Given the description of an element on the screen output the (x, y) to click on. 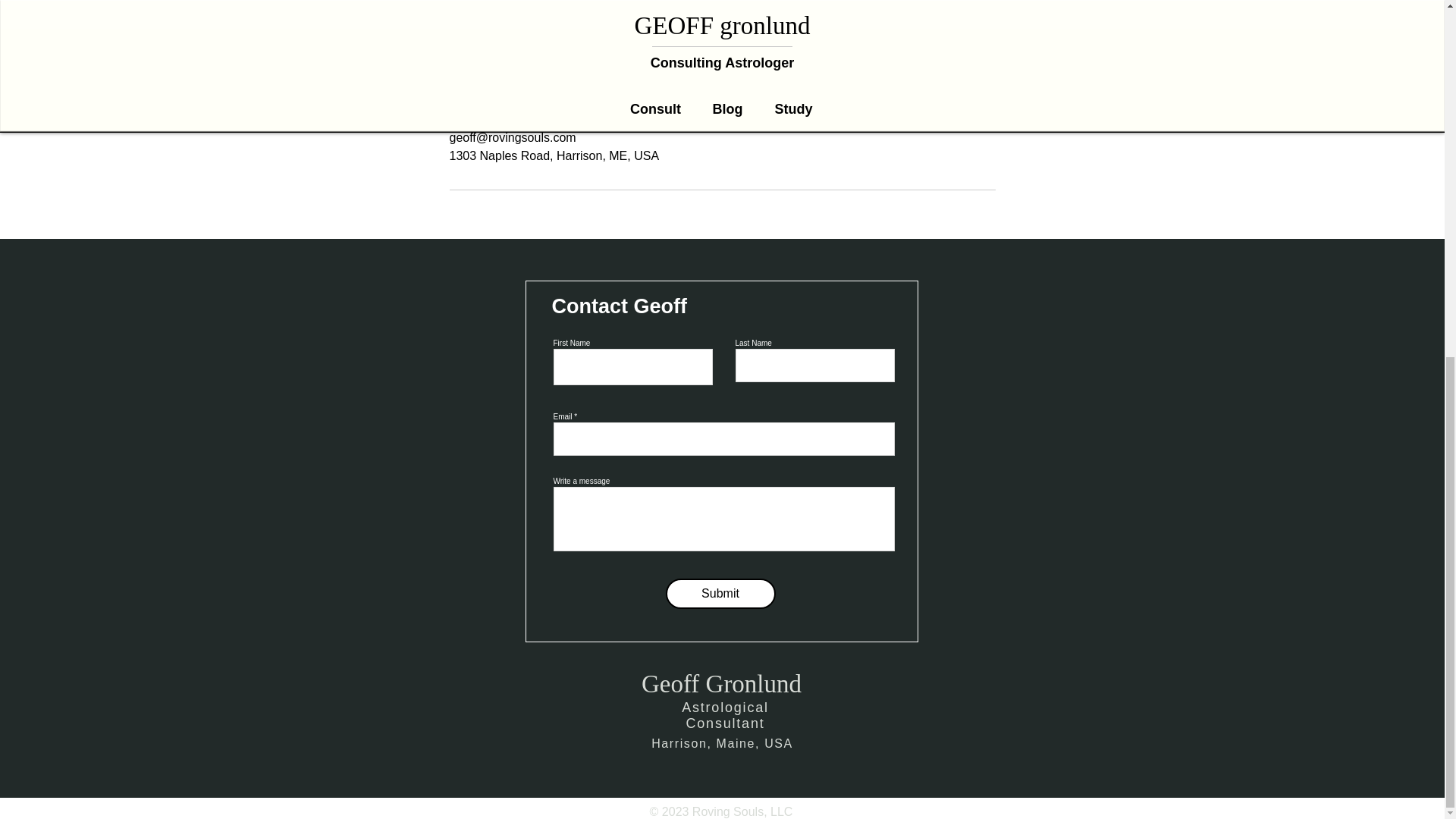
Submit (720, 593)
